Given the description of an element on the screen output the (x, y) to click on. 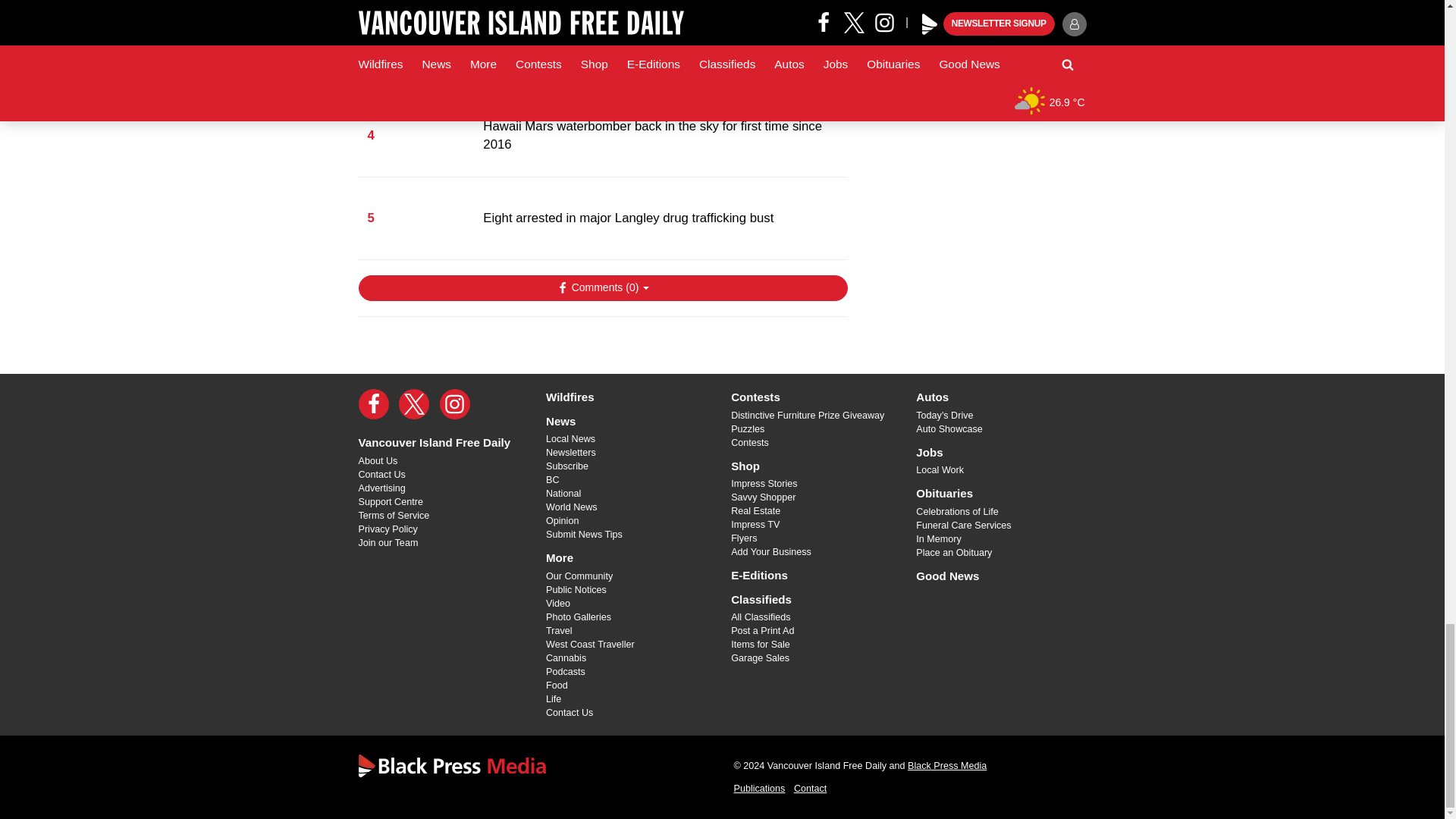
Show Comments (602, 288)
X (413, 404)
Facebook (373, 404)
Instagram (454, 404)
